Given the description of an element on the screen output the (x, y) to click on. 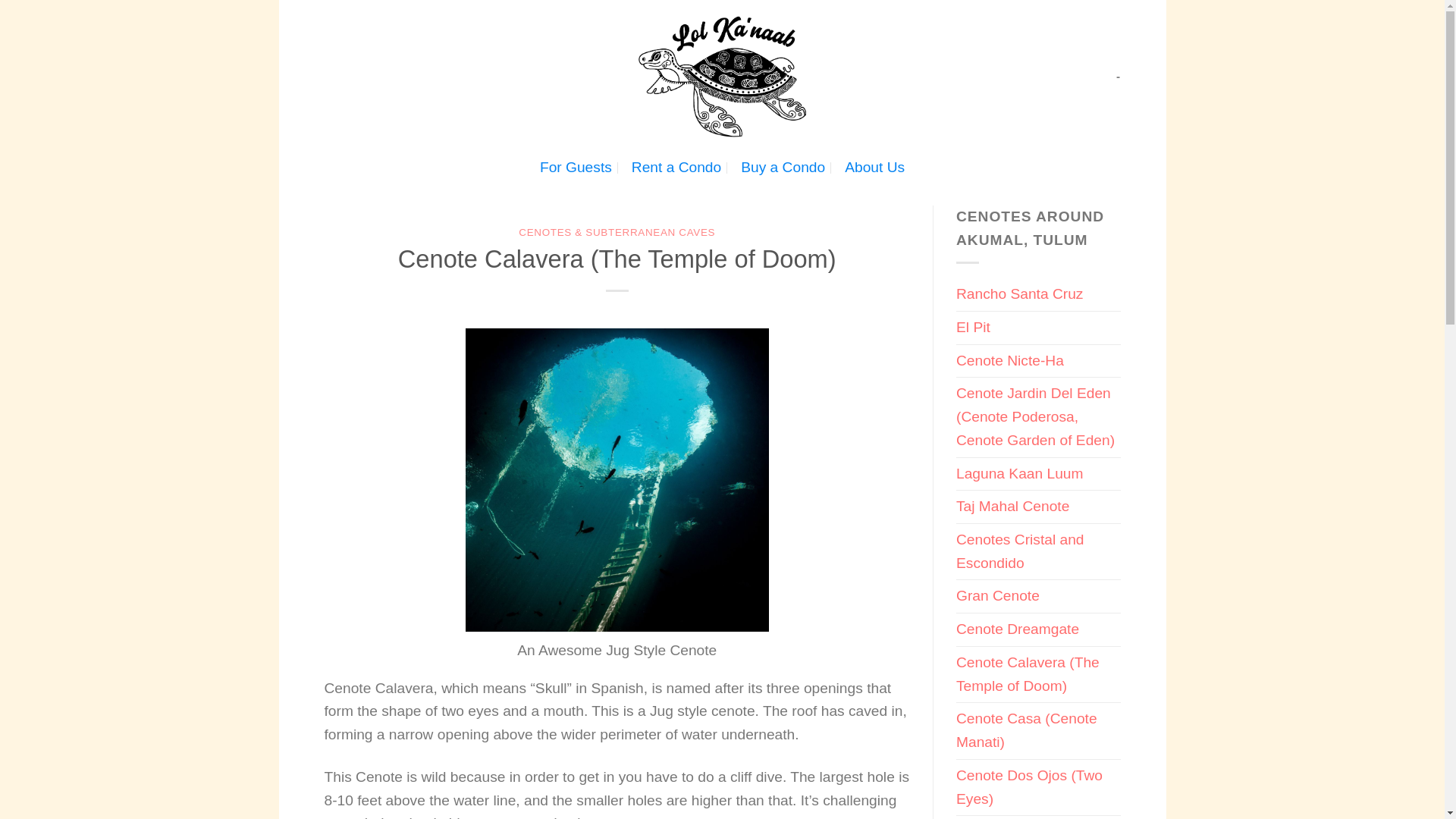
Buy a Condo (783, 167)
Rent a Condo (675, 167)
For Guests (575, 167)
